Given the description of an element on the screen output the (x, y) to click on. 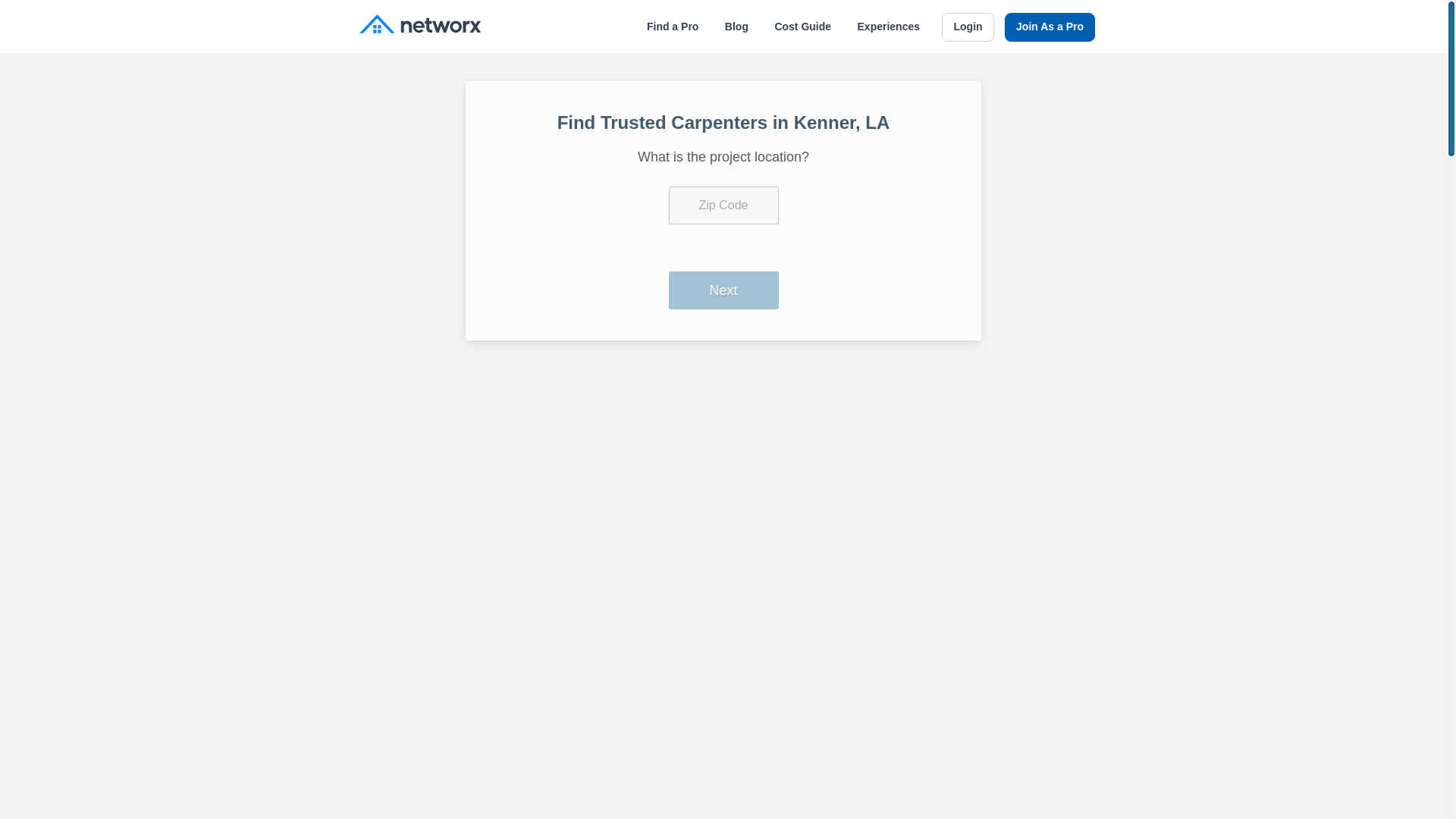
Experiences (888, 26)
Login (967, 27)
Networx (419, 25)
Join As a Pro (1049, 27)
Find a Pro (672, 26)
Please enter a valid zip code (723, 205)
Next (723, 290)
Cost Guide (802, 26)
